Given the description of an element on the screen output the (x, y) to click on. 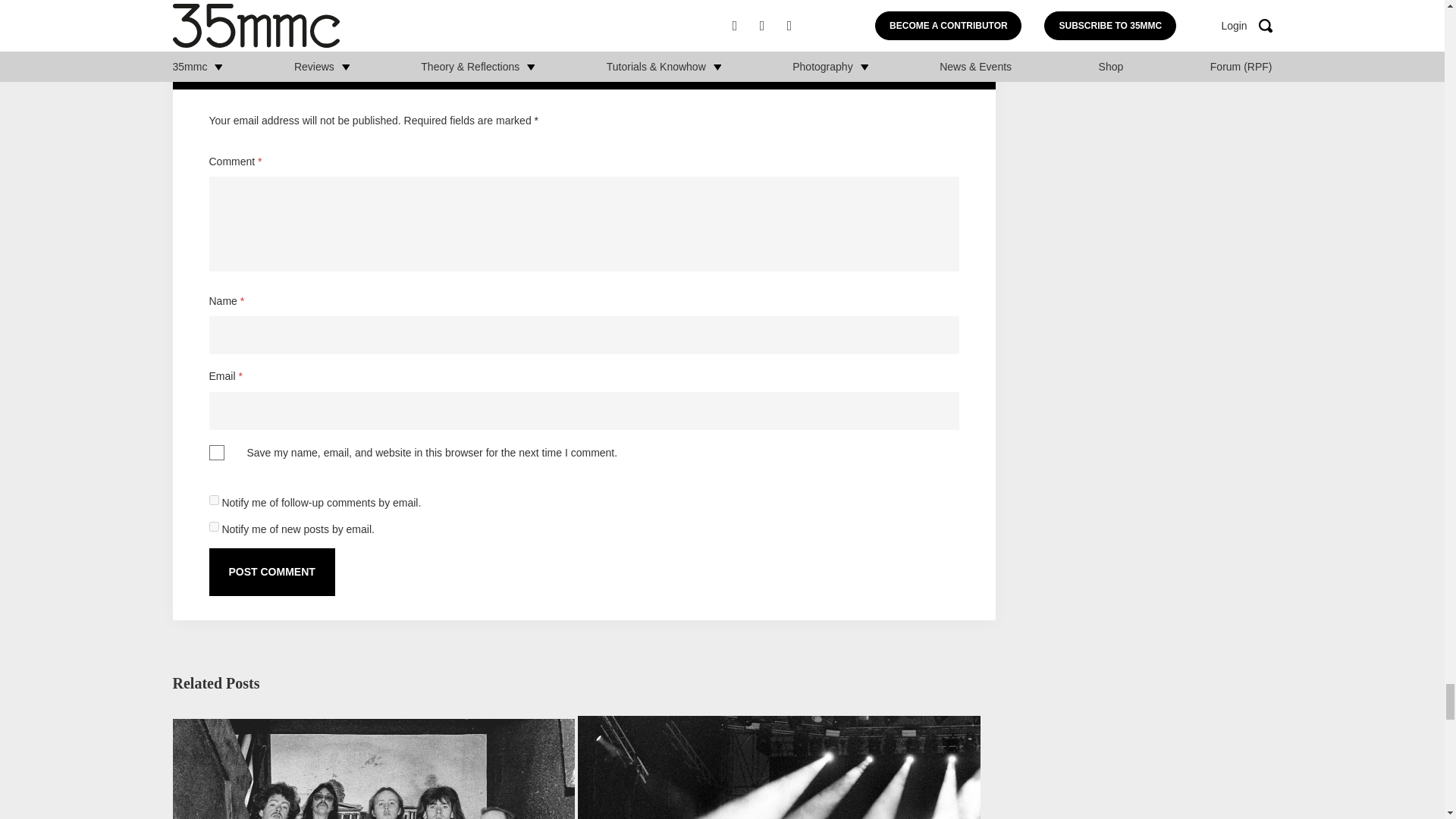
subscribe (214, 500)
yes (216, 452)
subscribe (214, 526)
Post Comment (271, 571)
